Given the description of an element on the screen output the (x, y) to click on. 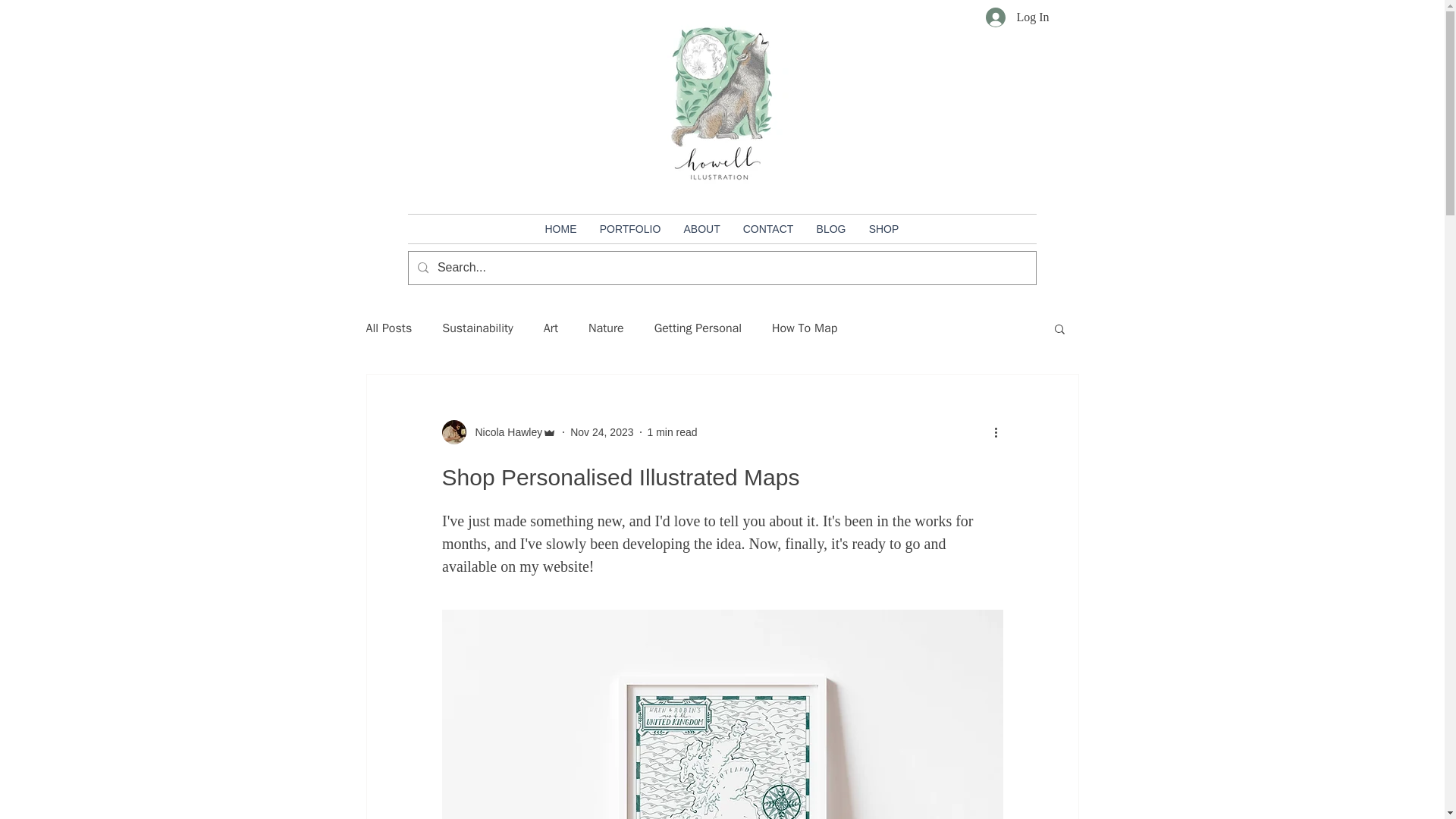
Nicola Hawley (503, 432)
Art (550, 327)
HOME (561, 228)
BLOG (831, 228)
CONTACT (767, 228)
Nov 24, 2023 (601, 431)
1 min read (672, 431)
Getting Personal (697, 327)
All Posts (388, 327)
Log In (1017, 17)
